Given the description of an element on the screen output the (x, y) to click on. 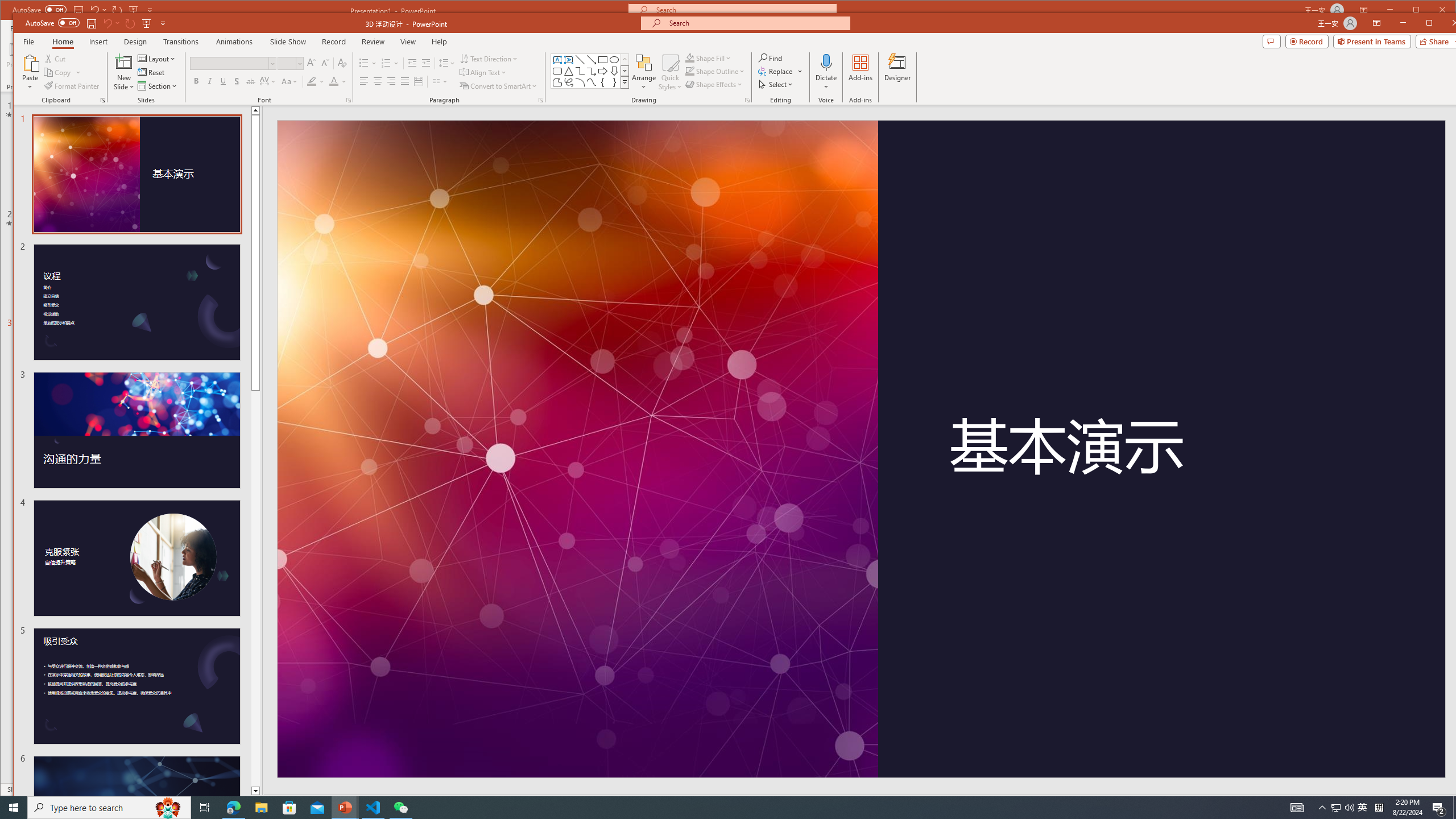
Zoom 161% (1435, 802)
